Given the description of an element on the screen output the (x, y) to click on. 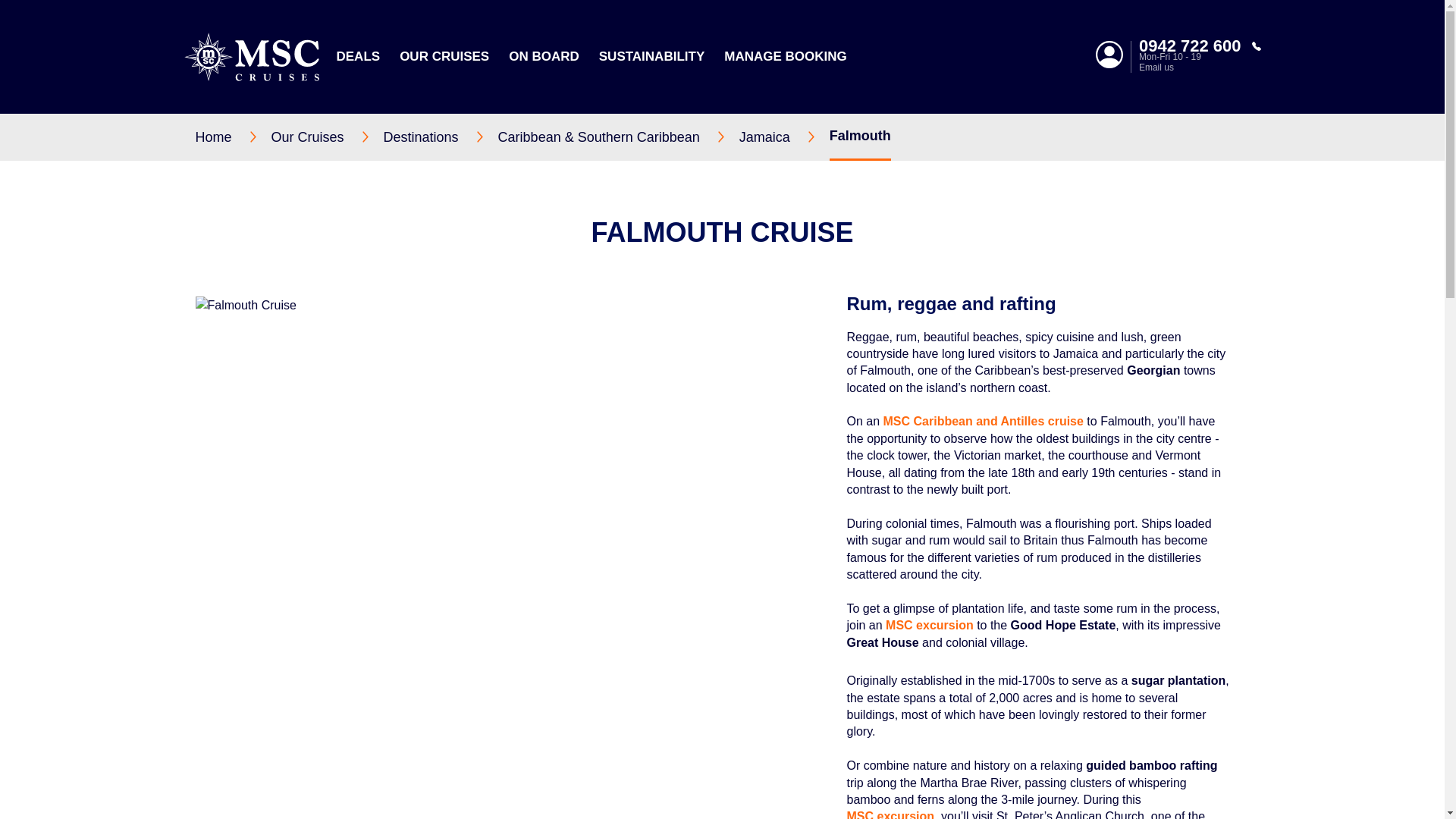
Home (232, 136)
Email us (1199, 67)
ON BOARD (543, 56)
SUSTAINABILITY (651, 56)
OUR CRUISES (443, 56)
MANAGE BOOKING (785, 56)
Search (1071, 155)
msc cruises logo (250, 56)
0942 722 600 (1199, 45)
DEALS (358, 56)
